Given the description of an element on the screen output the (x, y) to click on. 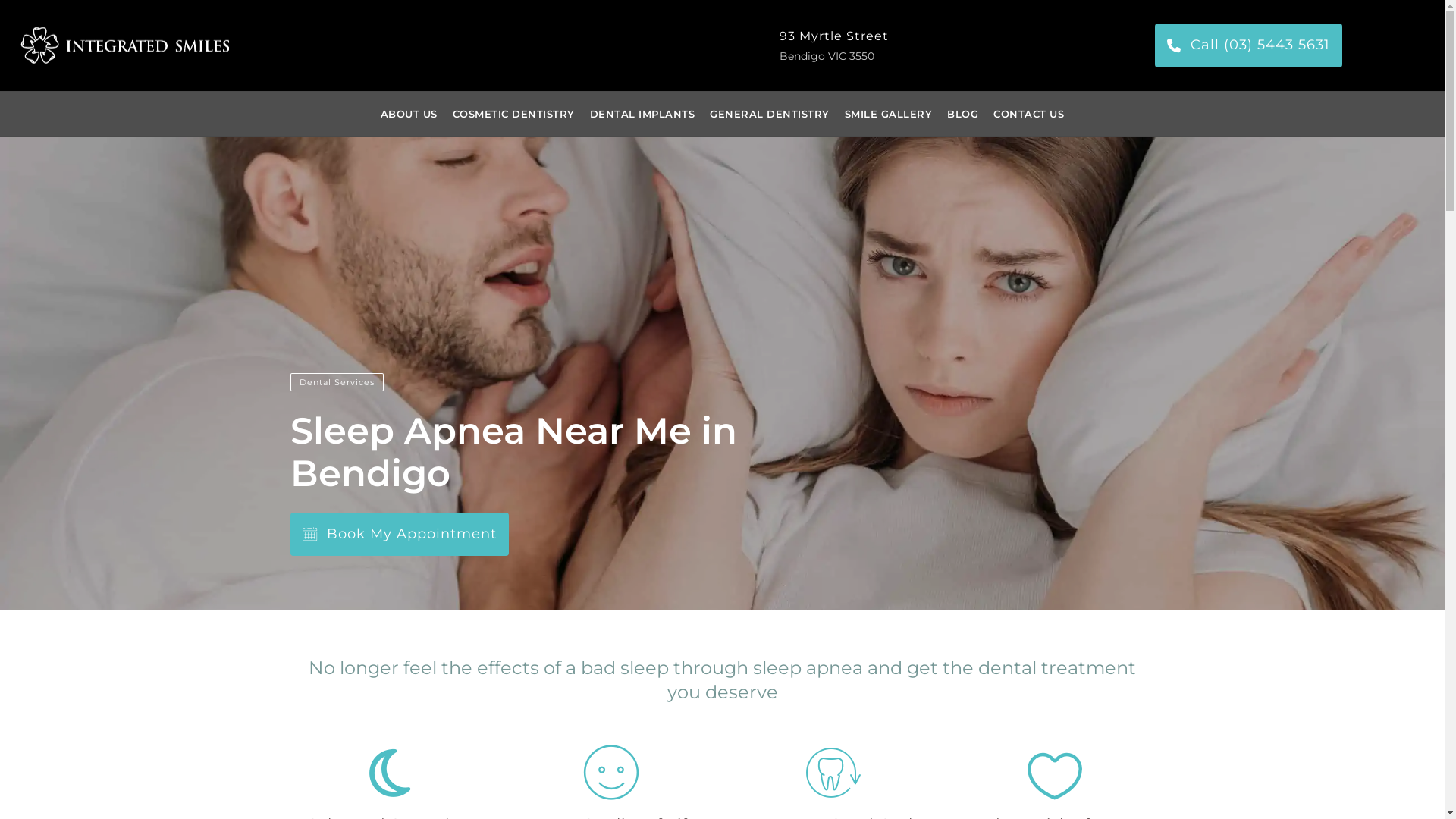
ABOUT US Element type: text (408, 113)
Dental Services Element type: text (335, 382)
SMILE GALLERY Element type: text (888, 113)
CONTACT US Element type: text (1028, 113)
Call (03) 5443 5631 Element type: text (1248, 44)
COSMETIC DENTISTRY Element type: text (513, 113)
DENTAL IMPLANTS Element type: text (642, 113)
GENERAL DENTISTRY Element type: text (769, 113)
Book My Appointment Element type: text (398, 533)
BLOG Element type: text (962, 113)
